Given the description of an element on the screen output the (x, y) to click on. 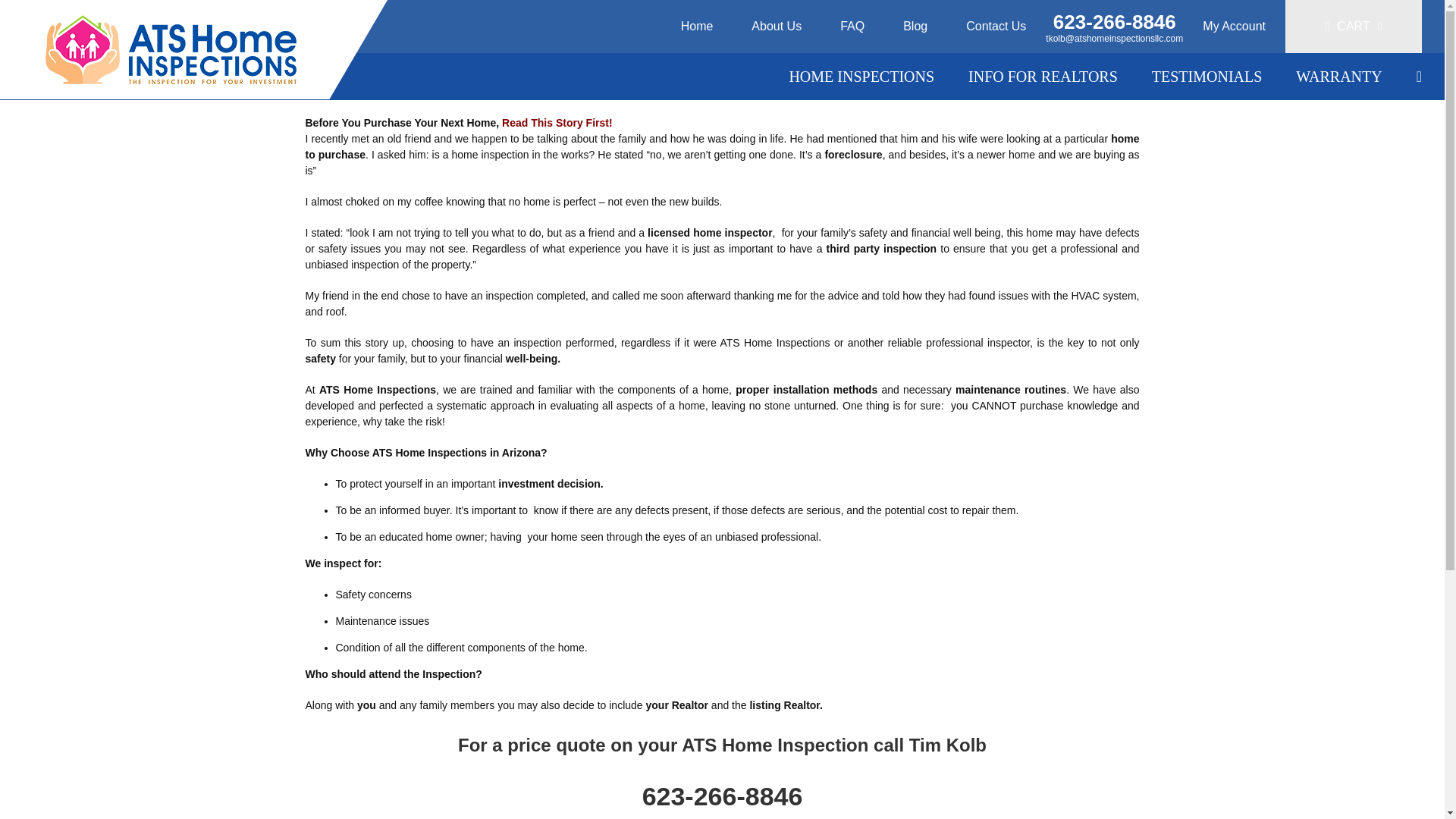
My Account (1233, 26)
INFO FOR REALTORS (1043, 76)
623-266-8846 (1114, 21)
About Us (776, 26)
TESTIMONIALS (1206, 76)
HOME INSPECTIONS (861, 76)
Home (697, 26)
FAQ (852, 26)
Contact Us (996, 26)
Log In (1273, 164)
Blog (914, 26)
CART (1353, 26)
WARRANTY (1338, 76)
